Given the description of an element on the screen output the (x, y) to click on. 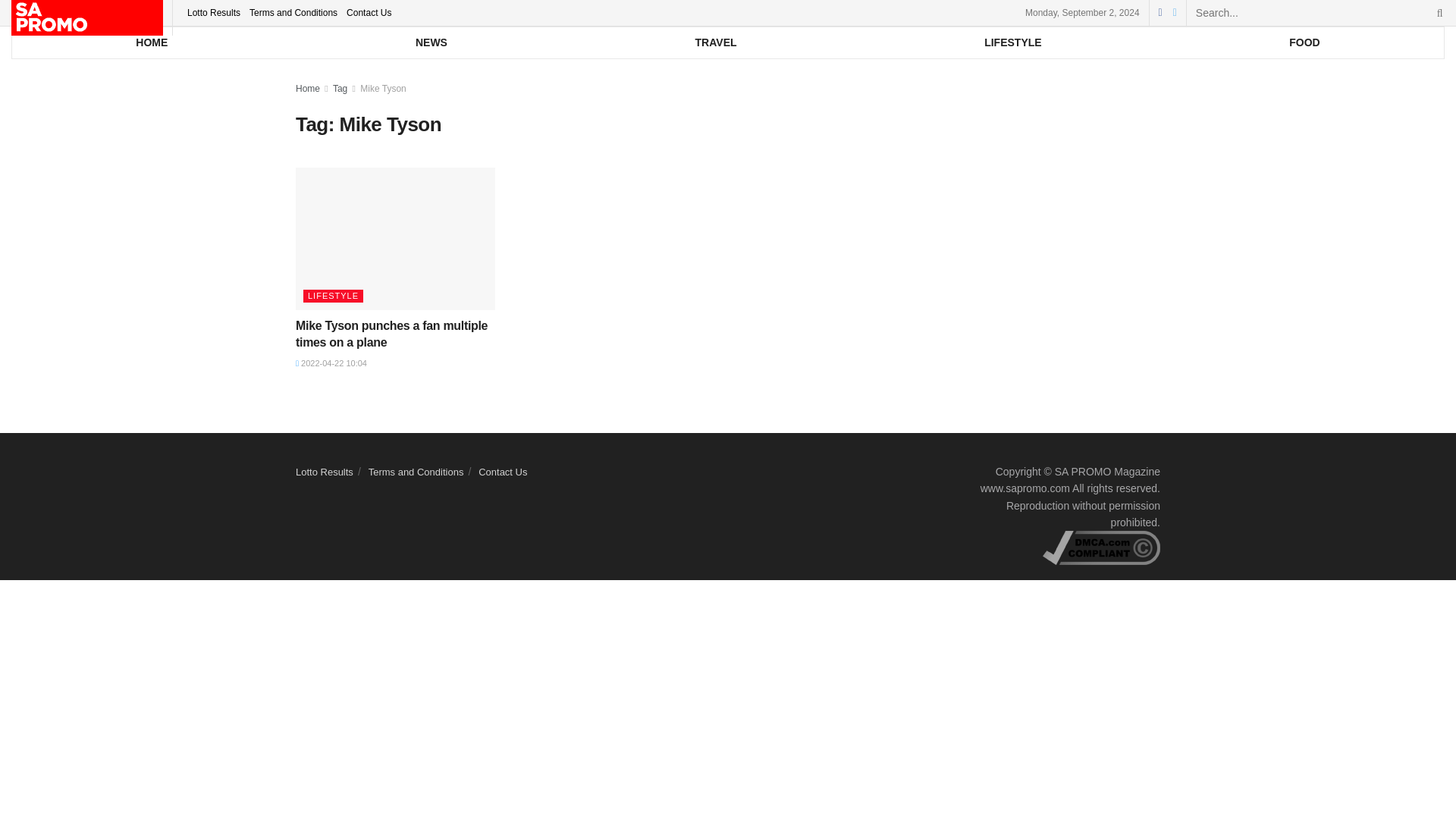
LIFESTYLE (1013, 42)
NEWS (432, 42)
Contact Us (368, 12)
FOOD (1305, 42)
HOME (151, 42)
DMCA Compliance information for sapromo.com (1101, 547)
TRAVEL (715, 42)
Lotto Results (213, 12)
Terms and Conditions (292, 12)
